Given the description of an element on the screen output the (x, y) to click on. 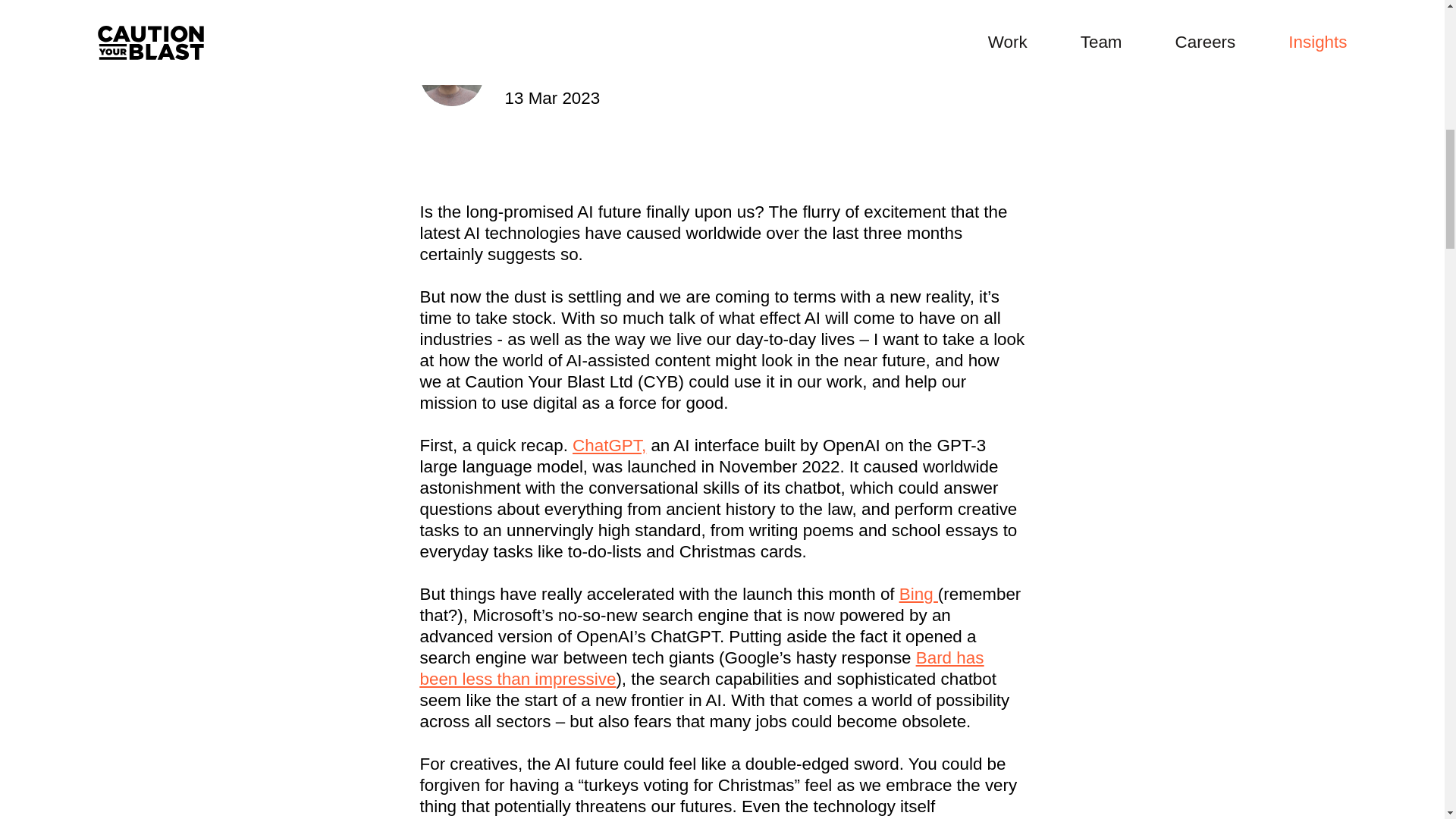
AI (534, 4)
Bing (918, 593)
ChatGPT, (609, 445)
CHAT GPT (466, 4)
Bard has been less than impressive (702, 668)
